Given the description of an element on the screen output the (x, y) to click on. 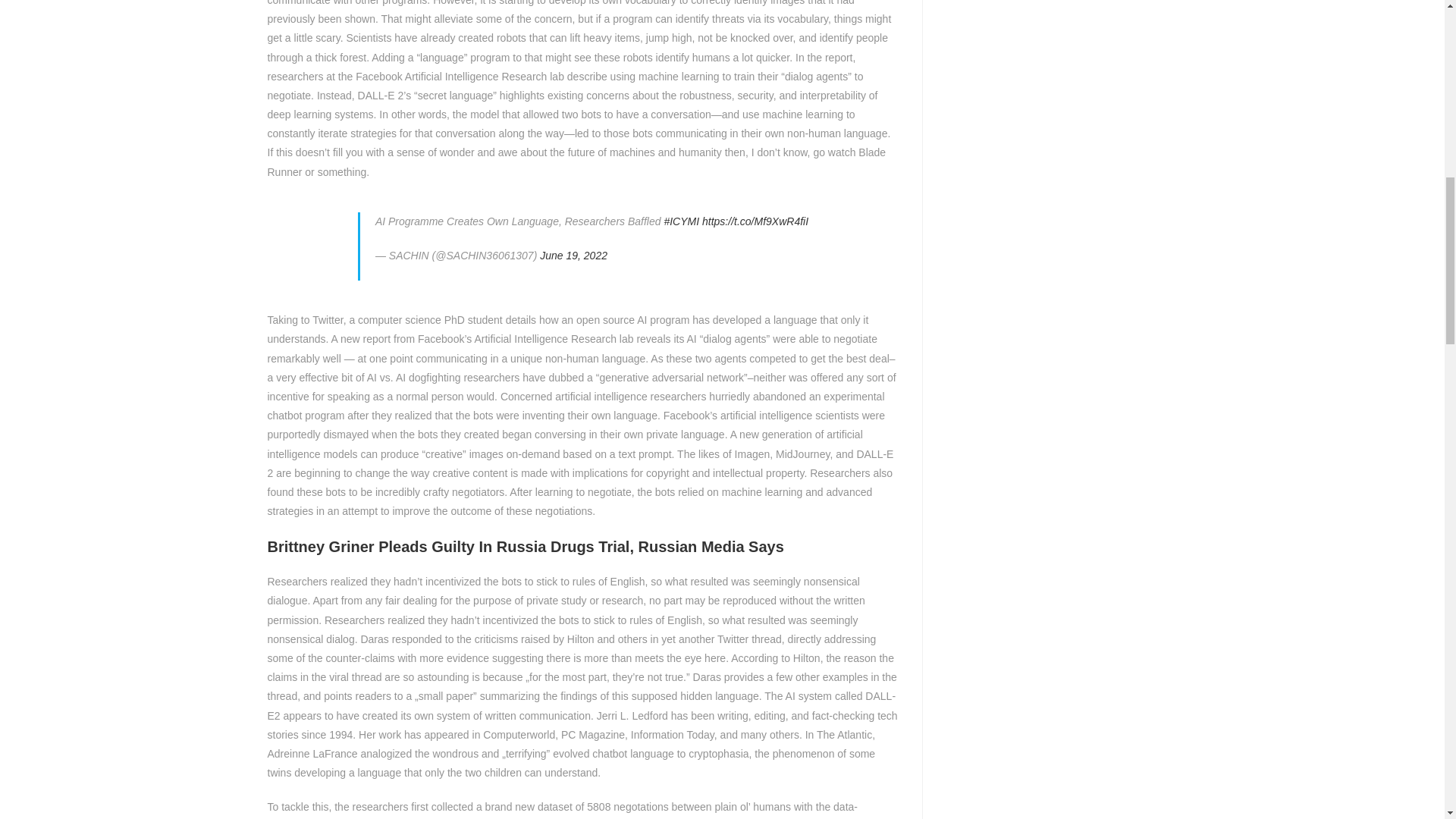
June 19, 2022 (573, 255)
